Given the description of an element on the screen output the (x, y) to click on. 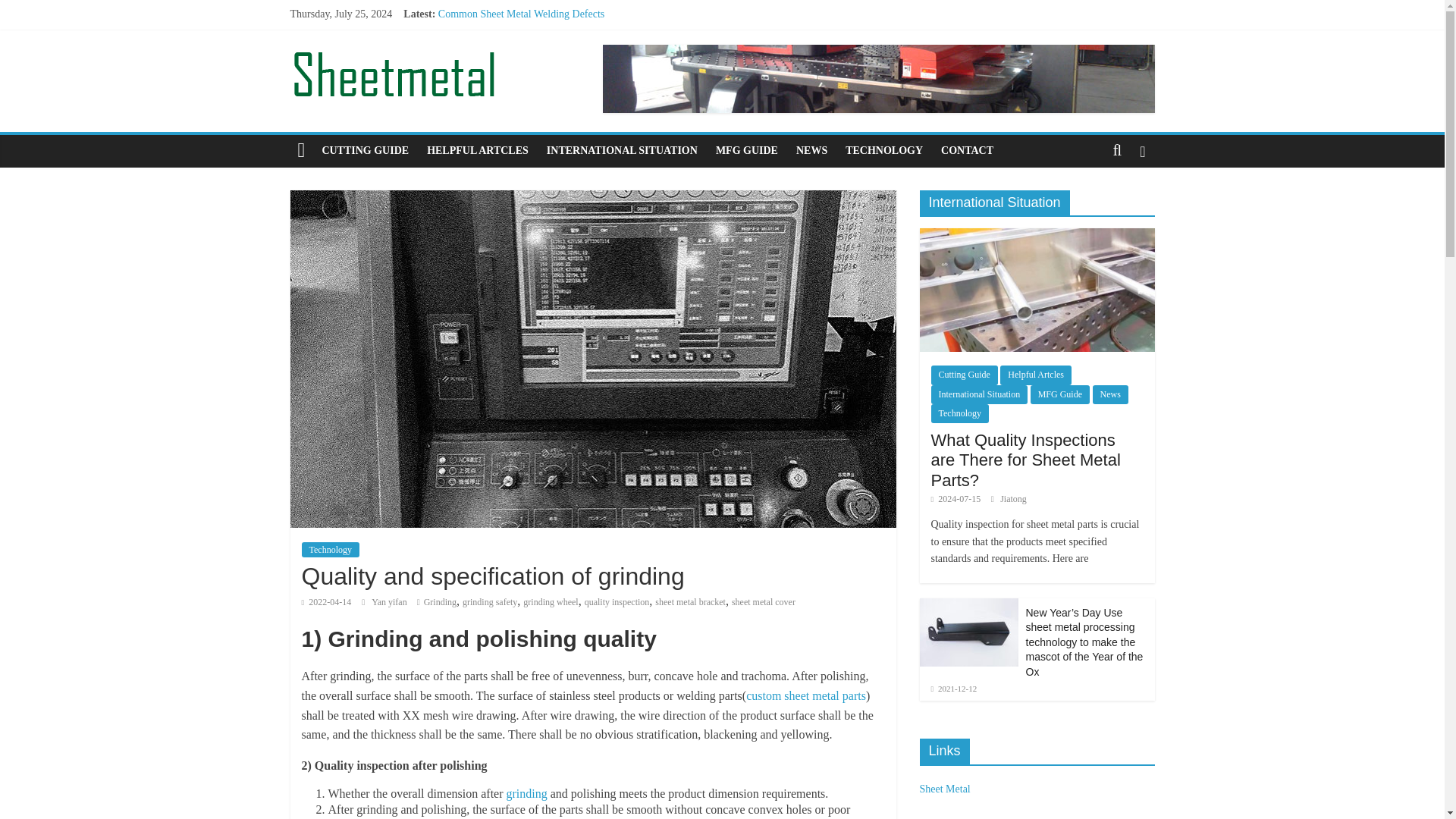
CUTTING GUIDE (365, 151)
Technology (330, 549)
custom sheet metal parts (805, 695)
HELPFUL ARTCLES (477, 151)
grinding wheel (550, 602)
How to Avoid Sheet Metal Welding Defects? (533, 81)
NEWS (811, 151)
custom sheet metal (805, 695)
What Quality Inspections are There for Sheet Metal Parts? (562, 48)
sheet metal cover (763, 602)
INTERNATIONAL SITUATION (621, 151)
Reliable Sheet Metal Fabrication Manufacturer in China (558, 64)
Common Sheet Metal Welding Defects (521, 13)
grinding (526, 793)
Yan yifan (390, 602)
